Given the description of an element on the screen output the (x, y) to click on. 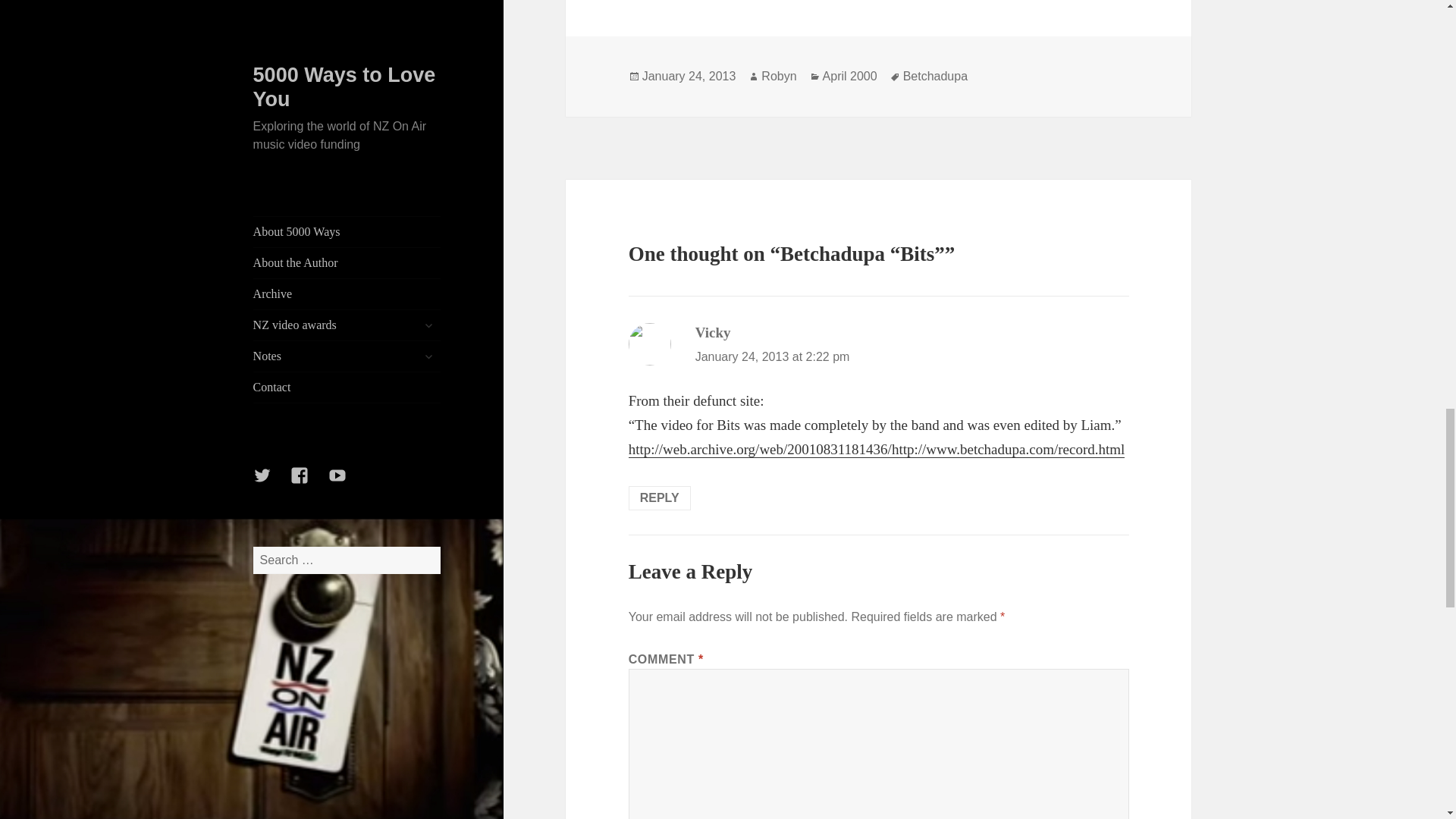
April 2000 (849, 76)
January 24, 2013 (689, 76)
REPLY (659, 498)
Betchadupa (935, 76)
January 24, 2013 at 2:22 pm (772, 356)
Robyn (778, 76)
